Given the description of an element on the screen output the (x, y) to click on. 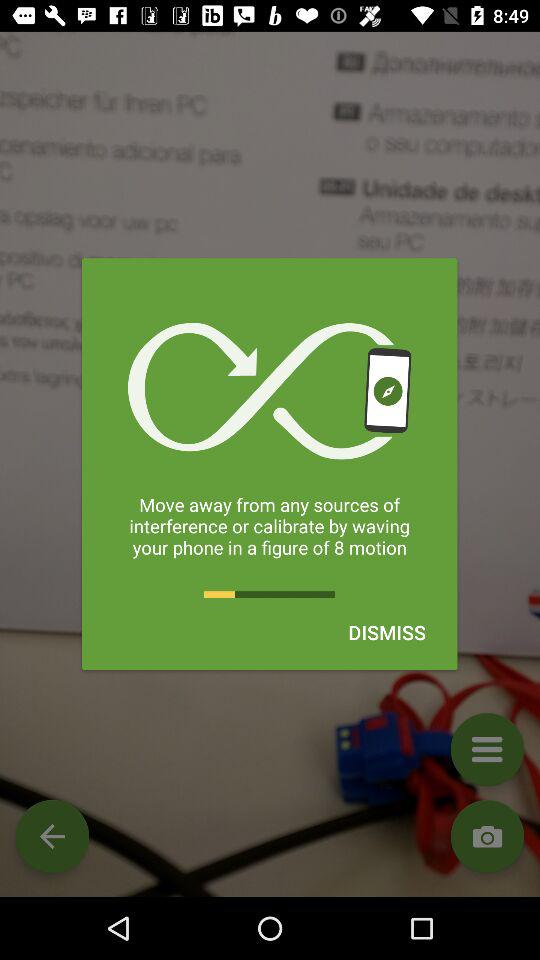
choose the icon below move away from (386, 632)
